Given the description of an element on the screen output the (x, y) to click on. 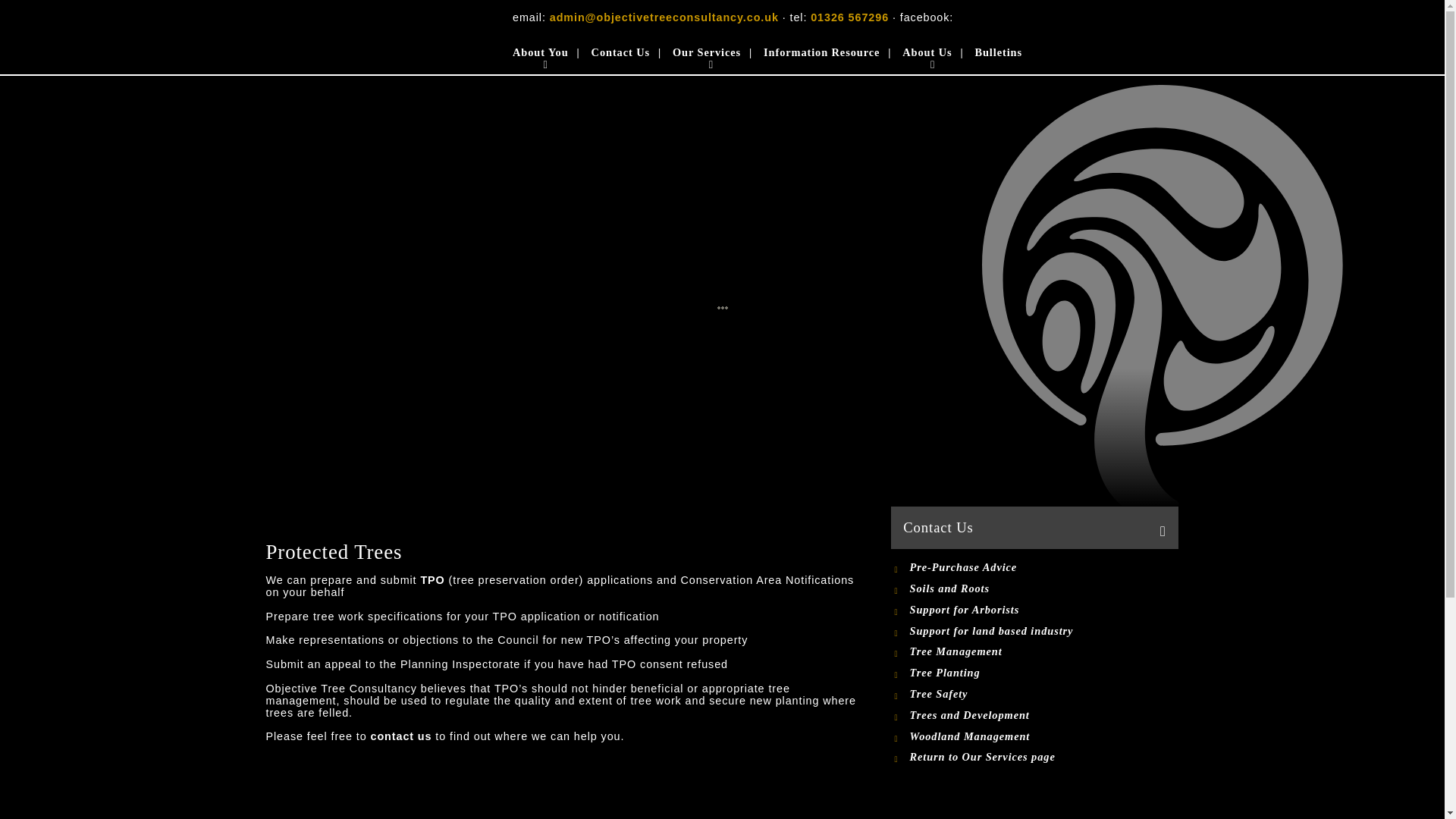
01326 567296 (849, 16)
Trees and Development (981, 715)
About Us (927, 55)
contact us (399, 736)
Woodland Management (981, 736)
Bulletins (998, 55)
About You (540, 55)
Tree Management (981, 651)
Information Resource (820, 55)
Soils and Roots (981, 588)
Support for Arborists (981, 609)
Call Us (849, 16)
Return to Our Services page (971, 757)
Tree Planting (981, 672)
Support for land based industry (981, 631)
